Given the description of an element on the screen output the (x, y) to click on. 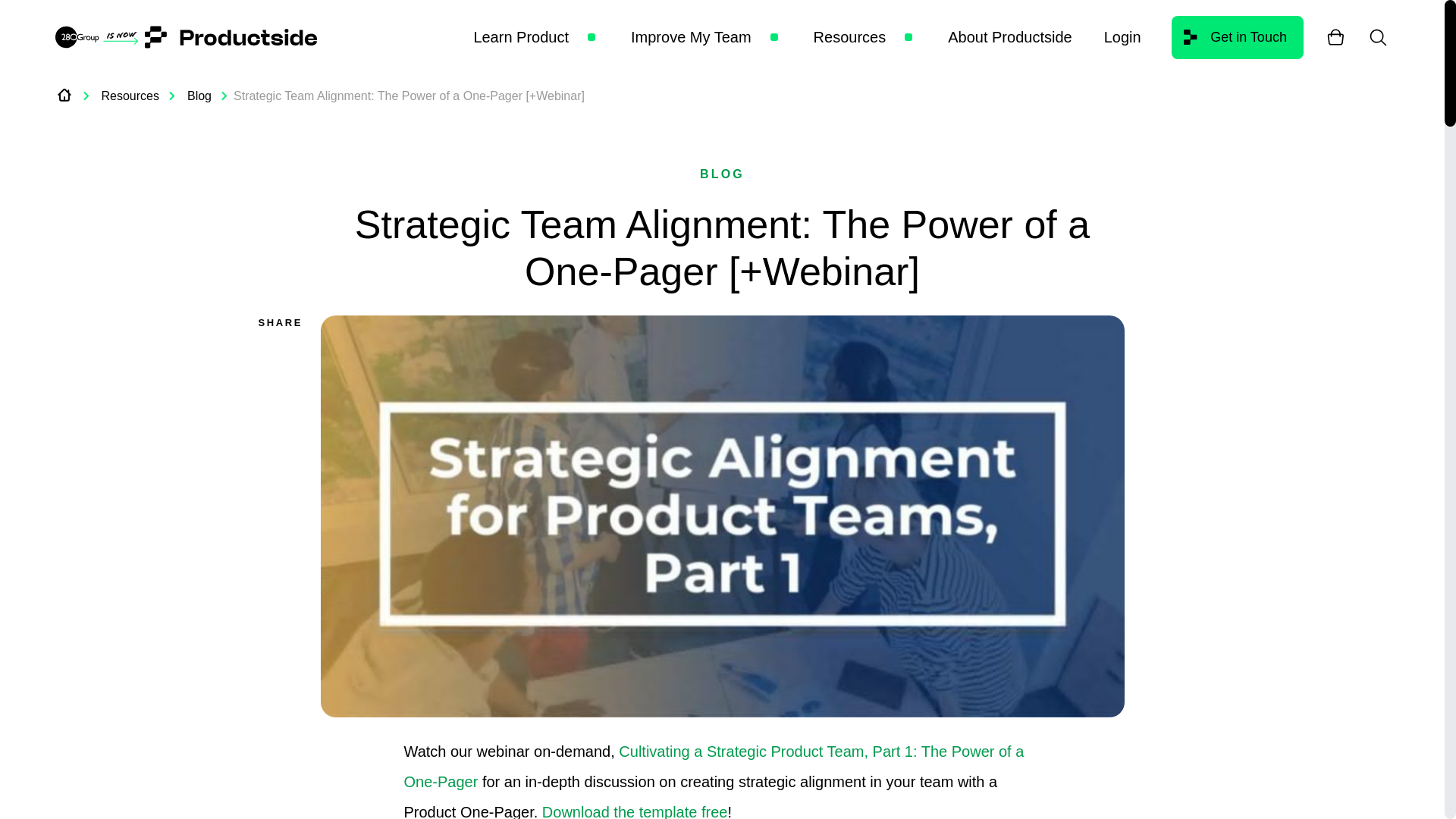
Go to Resources. (129, 95)
Improve My Team (690, 36)
Resources (849, 36)
Go to Productside. (63, 95)
About Productside (1009, 36)
Open Search (1378, 36)
Learn Product (521, 36)
Go to the Blog Category archives. (199, 95)
Login (1122, 36)
Get in Touch (1237, 36)
